Given the description of an element on the screen output the (x, y) to click on. 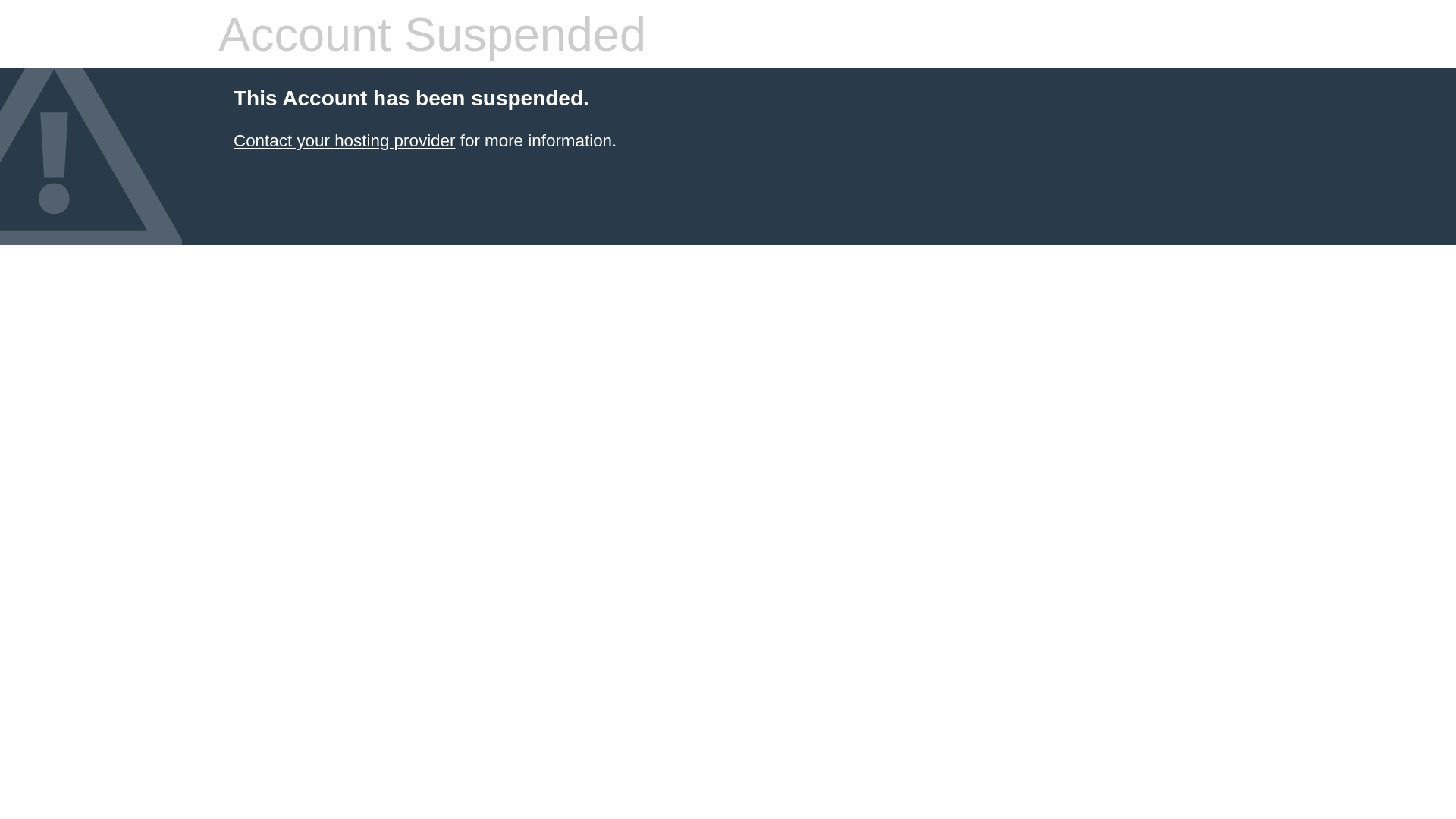
Contact your hosting provider Element type: text (344, 140)
